Given the description of an element on the screen output the (x, y) to click on. 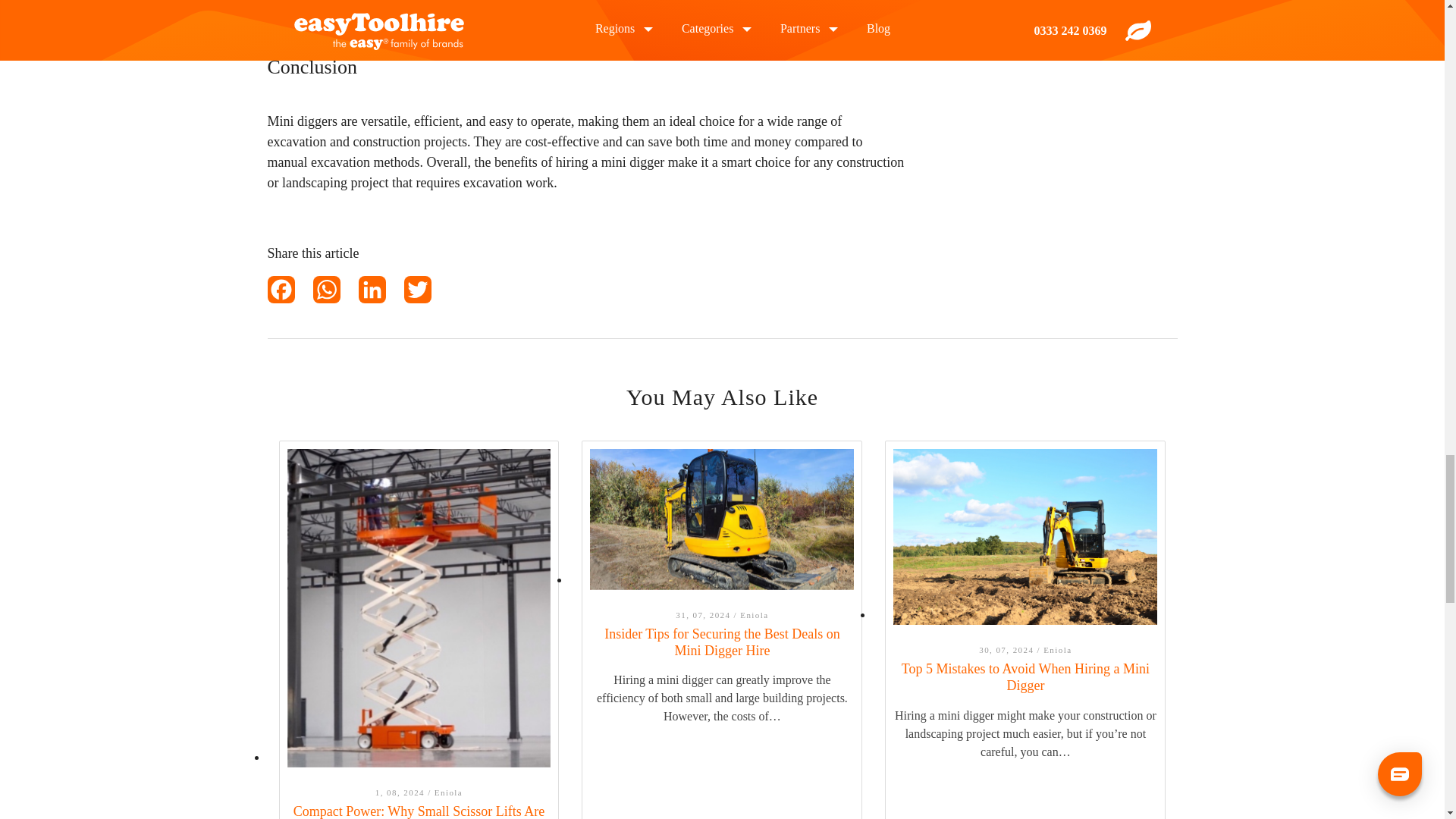
Facebook (289, 293)
LinkedIn (380, 293)
WhatsApp (335, 293)
